Given the description of an element on the screen output the (x, y) to click on. 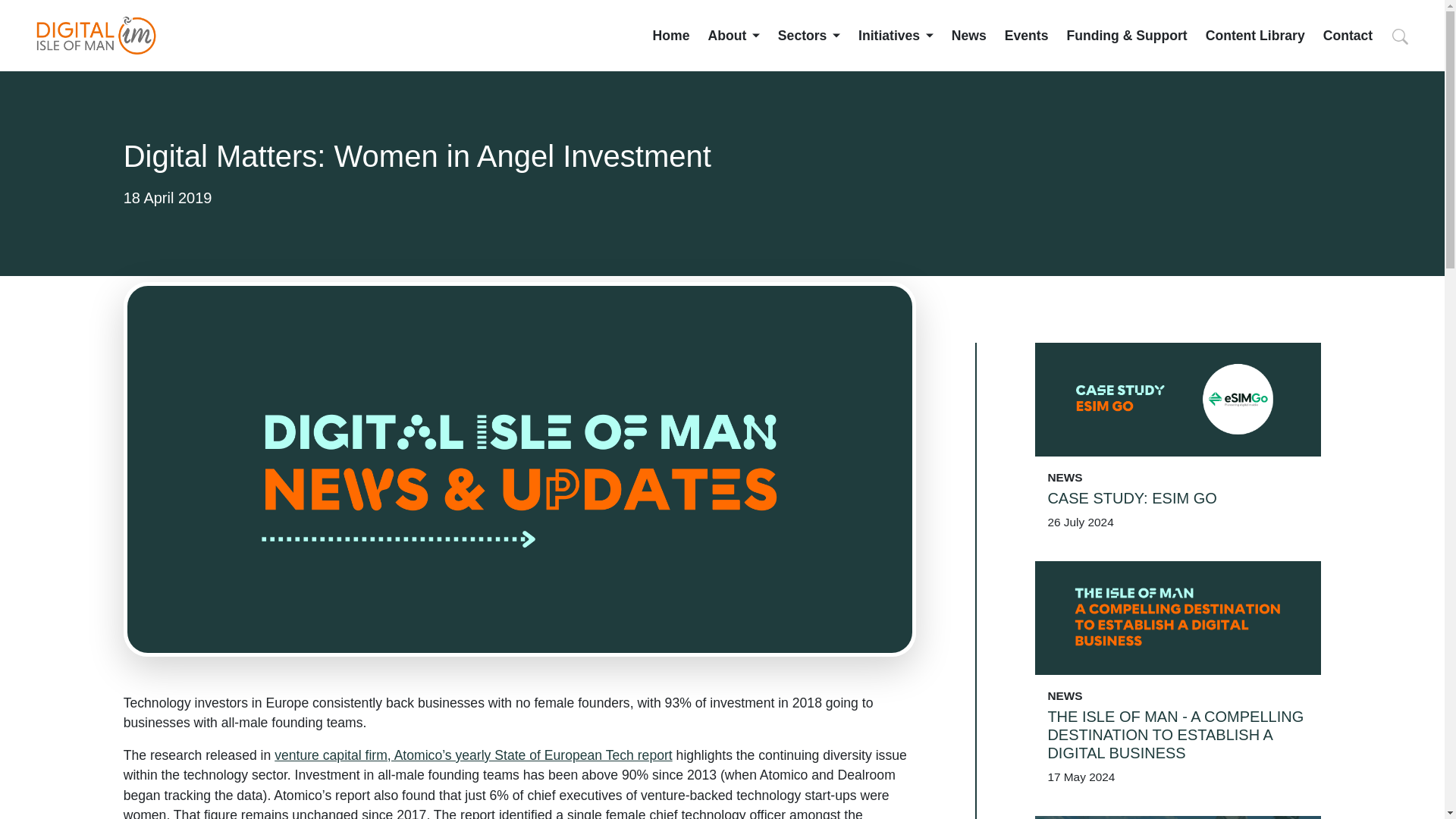
Events (1026, 35)
Sectors (808, 35)
About (732, 35)
CASE STUDY: ESIM GO (1177, 497)
Content Library (1254, 35)
Contact (1348, 35)
Initiatives (896, 35)
